Given the description of an element on the screen output the (x, y) to click on. 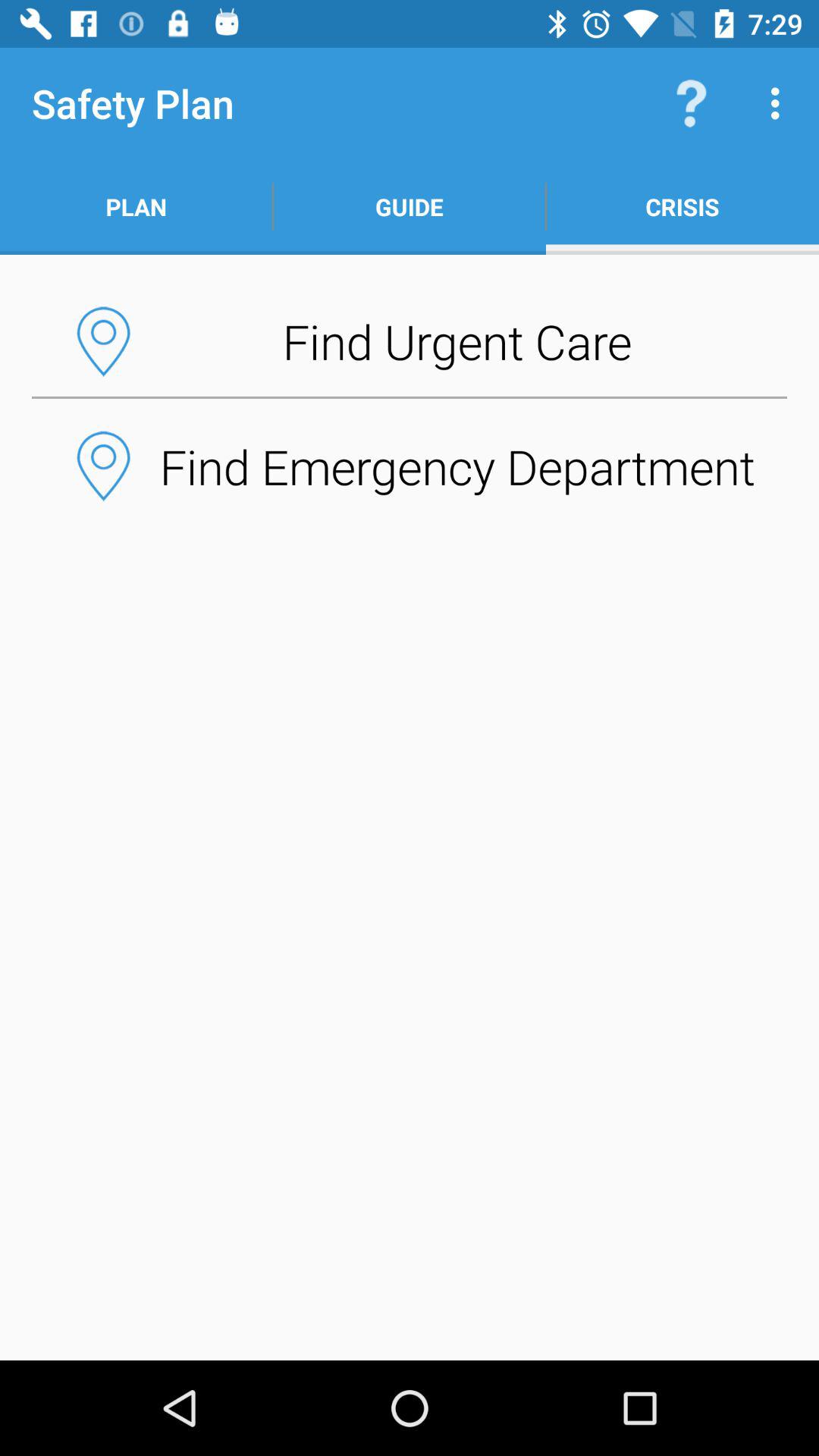
open crisis icon (682, 206)
